Given the description of an element on the screen output the (x, y) to click on. 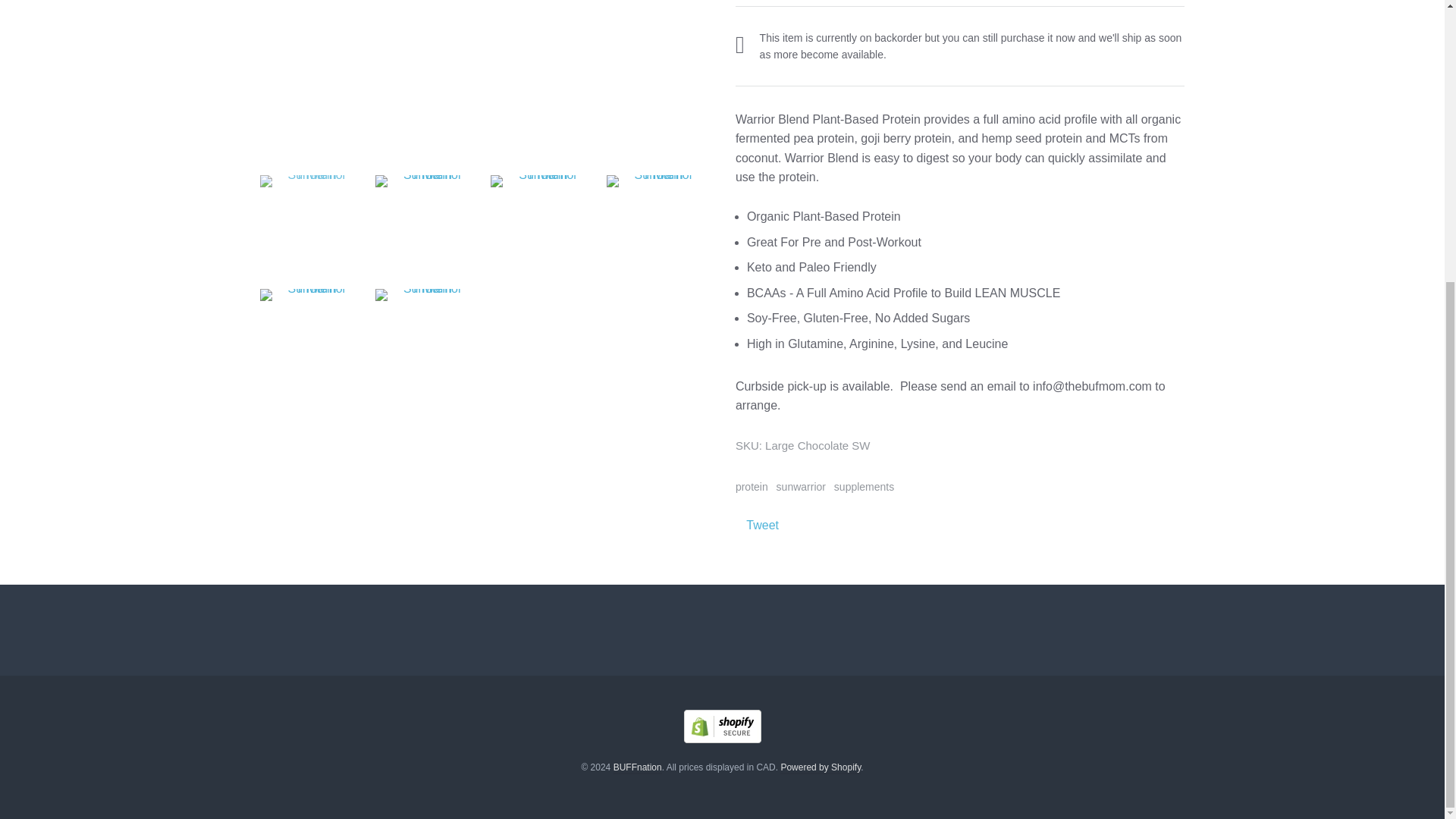
Sunwarrior Protein (310, 226)
Sunwarrior Protein (426, 226)
Show products matching tag supplements (863, 487)
Show products matching tag sunwarrior (800, 487)
protein (751, 487)
Sunwarrior Protein (484, 75)
Show products matching tag protein (751, 487)
This online store is secured by Shopify (722, 738)
Sunwarrior Protein (541, 226)
Powered by Shopify (820, 767)
sunwarrior (800, 487)
Tweet (761, 524)
supplements (863, 487)
Sunwarrior Protein (658, 226)
BUFFnation (637, 767)
